Given the description of an element on the screen output the (x, y) to click on. 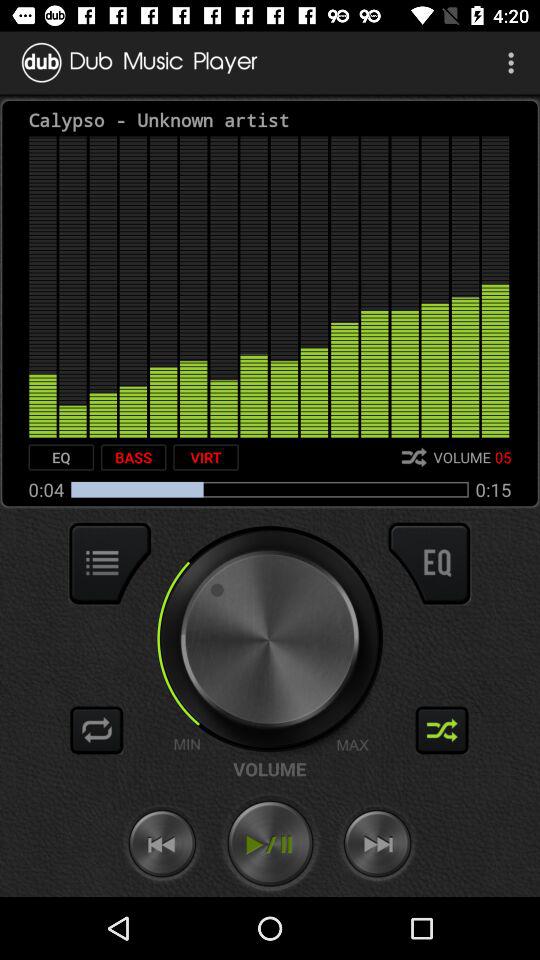
repeat song (97, 730)
